Given the description of an element on the screen output the (x, y) to click on. 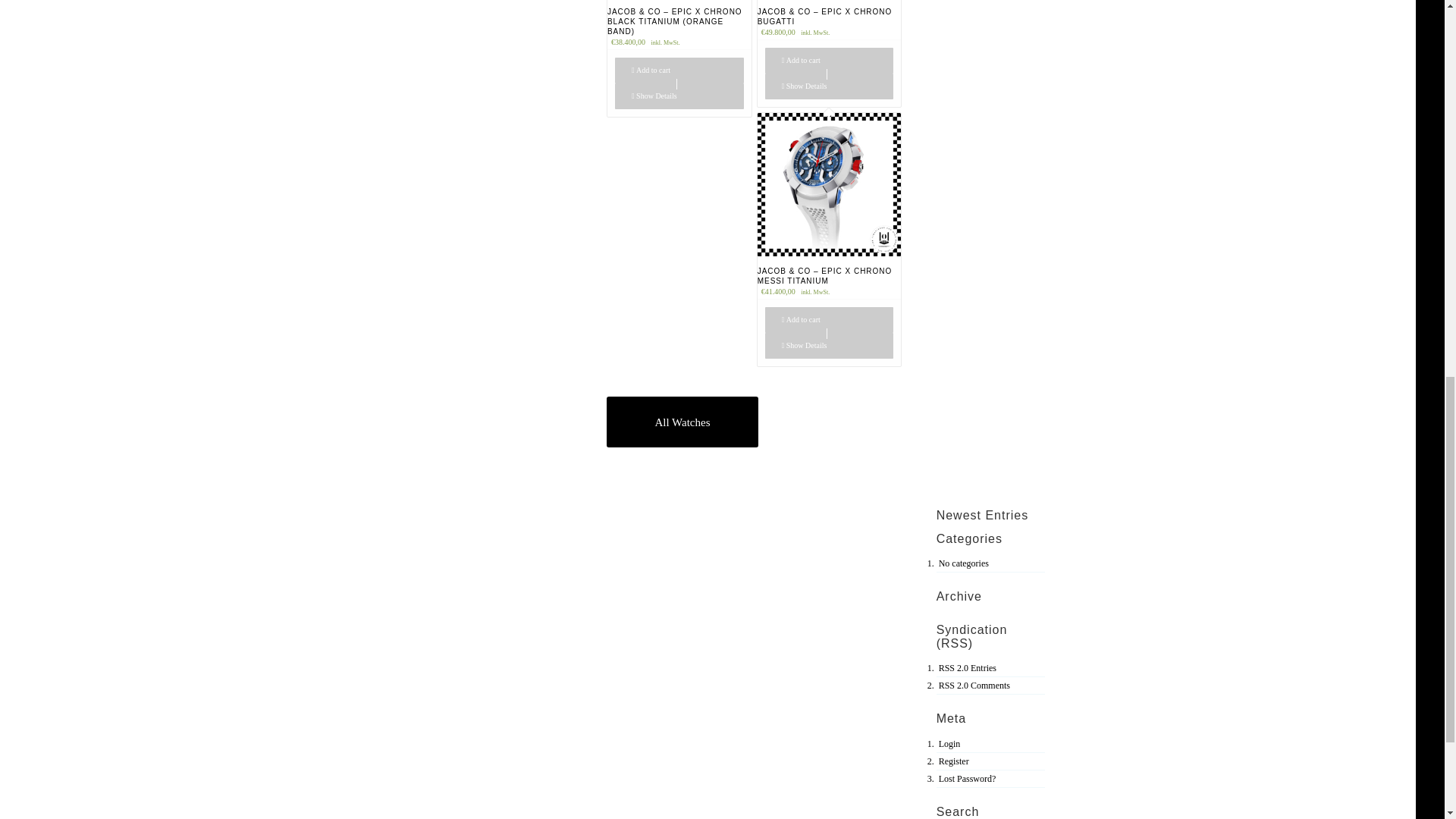
Add to cart (829, 60)
Add to cart (829, 319)
Show Details (829, 345)
Lost Password? (967, 778)
Add to cart (679, 70)
No problem! (967, 778)
Show Details (829, 86)
Login (949, 743)
RSS 2.0 Entries (967, 667)
Show Details (679, 95)
